Given the description of an element on the screen output the (x, y) to click on. 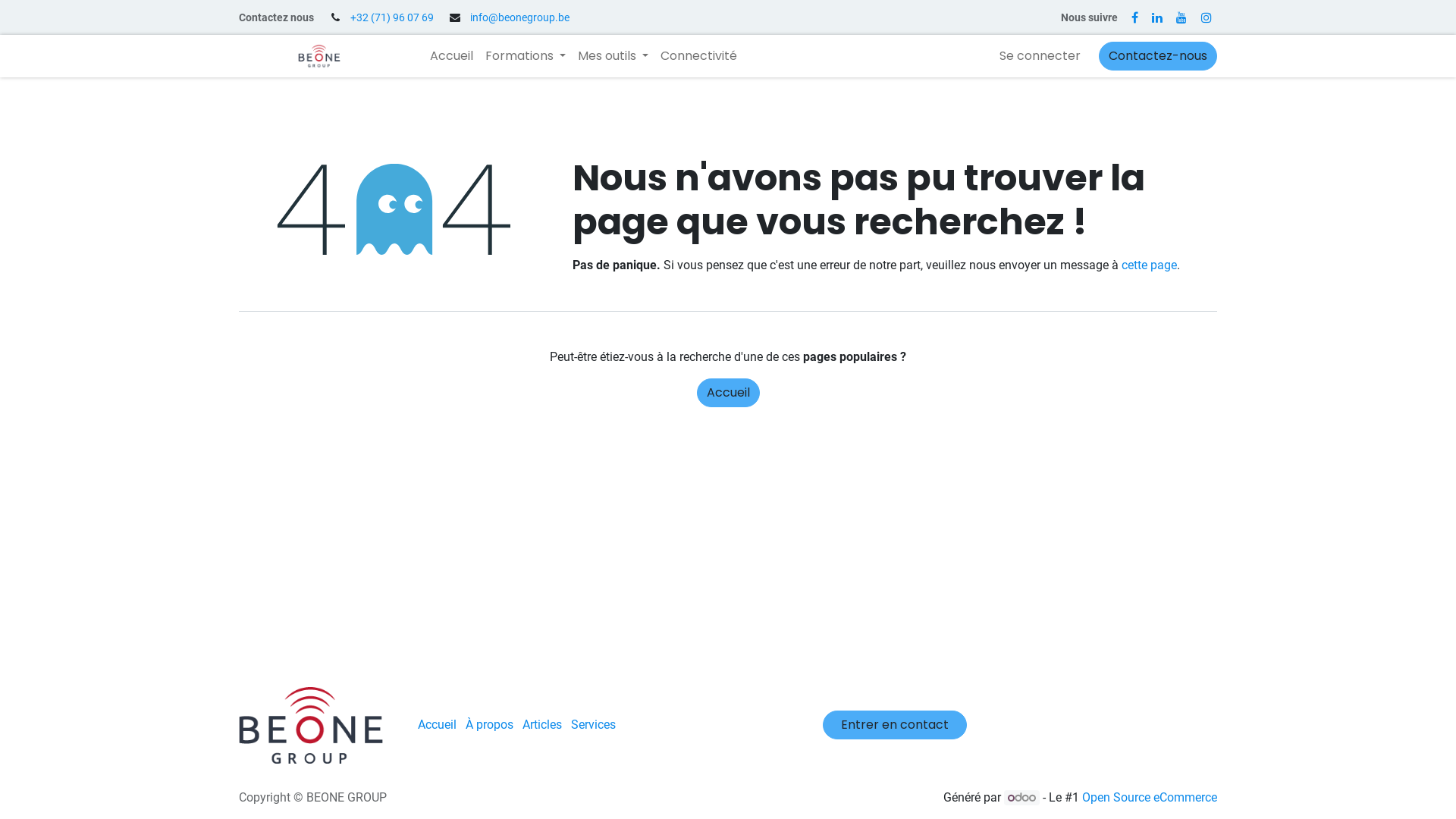
Intranet client Element type: hover (318, 55)
Services Element type: text (593, 724)
Accueil Element type: text (436, 724)
MyCompany Element type: hover (310, 725)
Accueil Element type: text (727, 392)
Open Source eCommerce Element type: text (1149, 797)
Formations Element type: text (525, 55)
Articles Element type: text (541, 724)
info@beonegroup.be Element type: text (519, 17)
Entrer en contact Element type: text (894, 724)
Accueil Element type: text (451, 55)
Contactez-nous Element type: text (1157, 55)
cette page Element type: text (1148, 264)
Se connecter Element type: text (1039, 55)
Mes outils Element type: text (612, 55)
+32 (71) 96 07 69 Element type: text (391, 17)
